Given the description of an element on the screen output the (x, y) to click on. 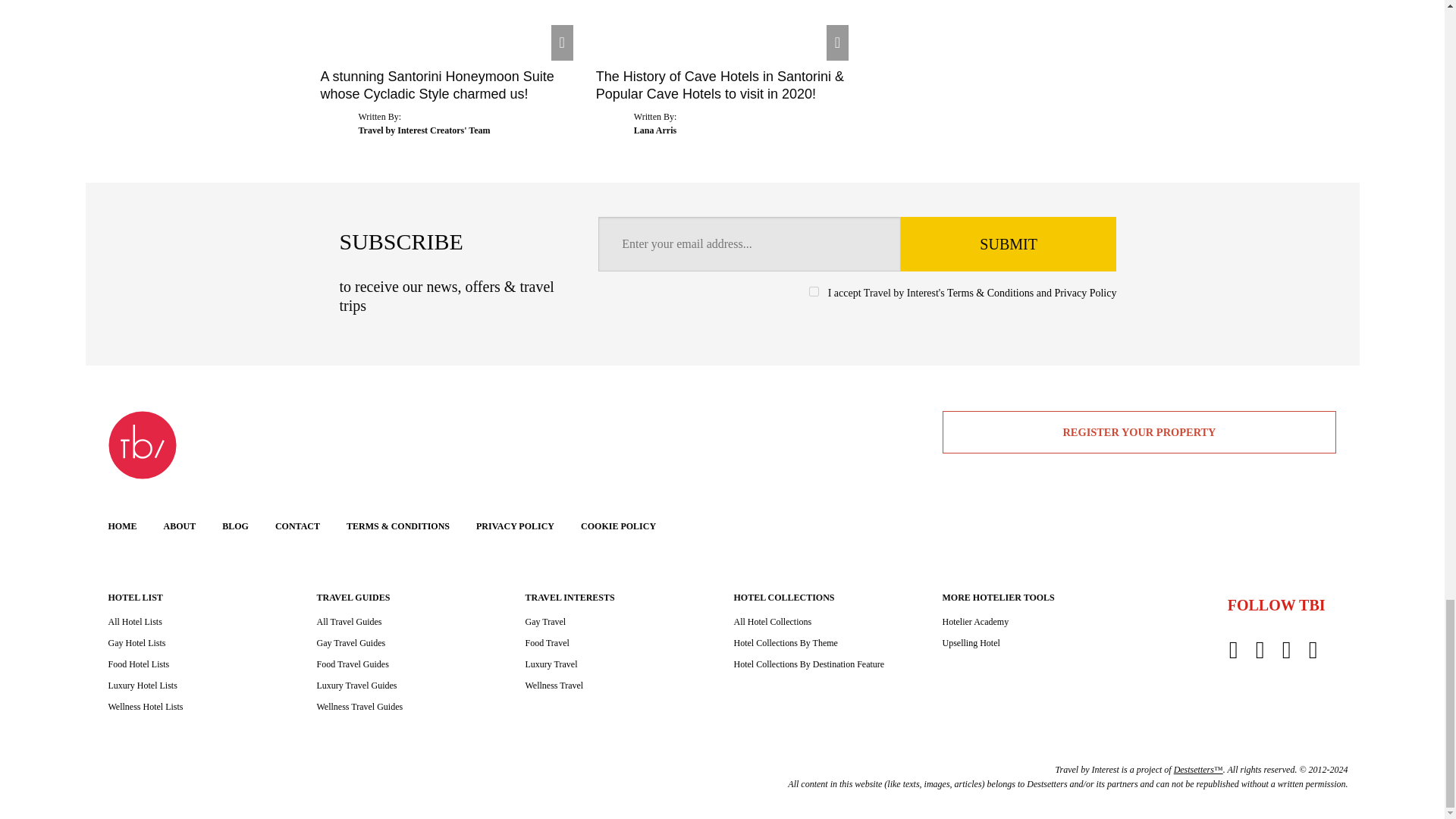
1 (813, 291)
